Given the description of an element on the screen output the (x, y) to click on. 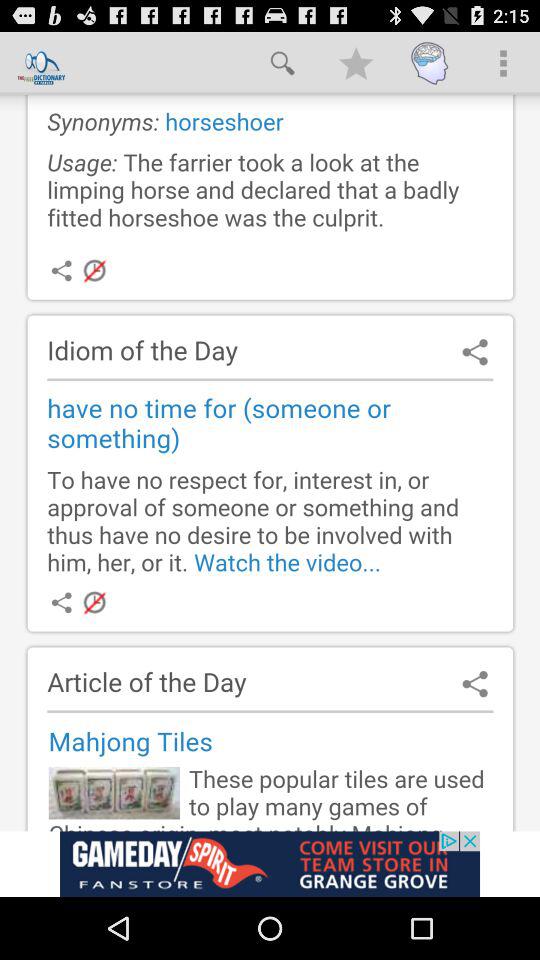
advertisement (270, 864)
